Given the description of an element on the screen output the (x, y) to click on. 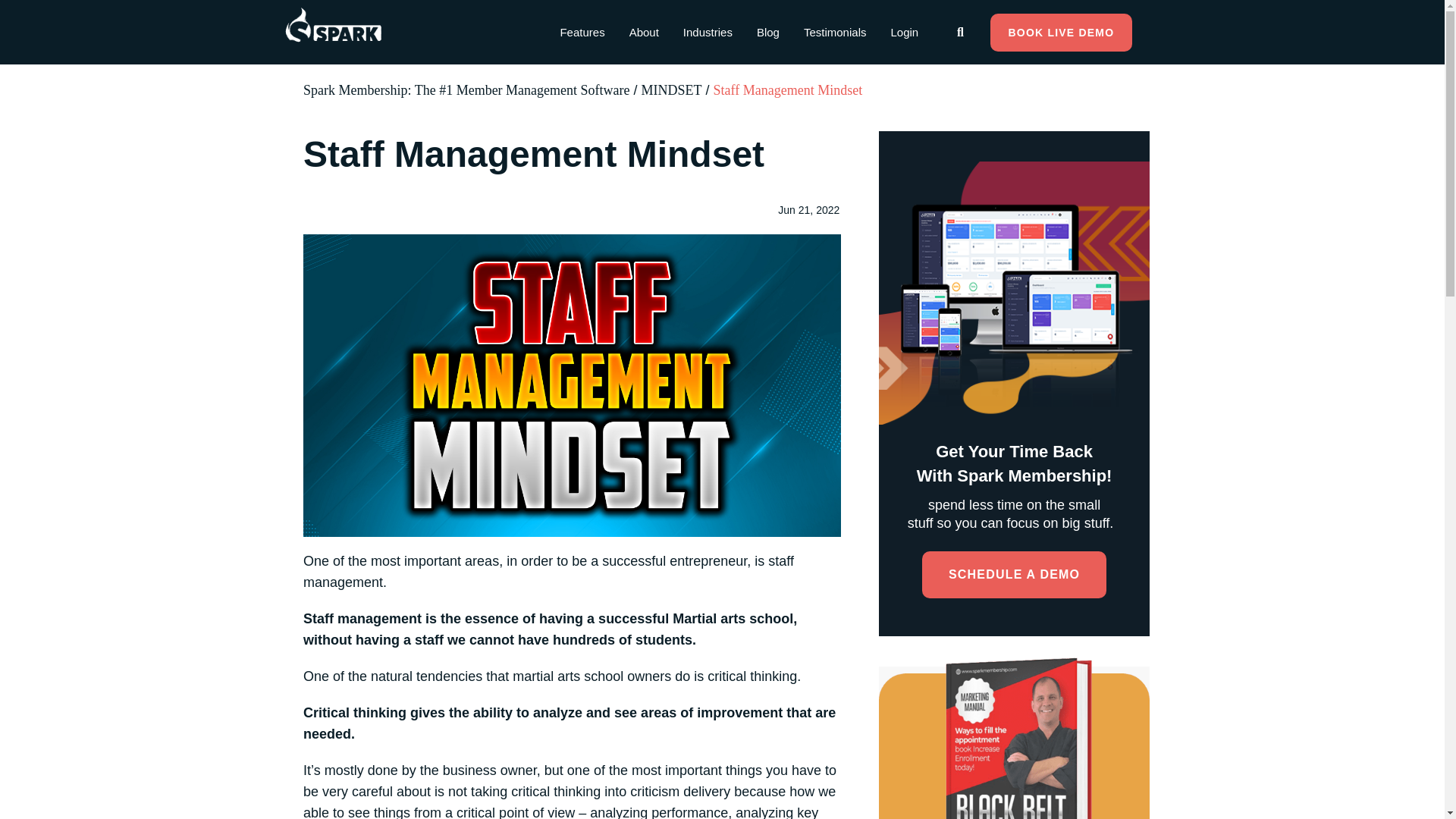
Blog (768, 31)
Login (903, 31)
Go to the MINDSET category archives. (671, 89)
Industries (707, 31)
Testimonials (835, 31)
About (644, 31)
BOOK LIVE DEMO (1061, 32)
Features (581, 31)
